Given the description of an element on the screen output the (x, y) to click on. 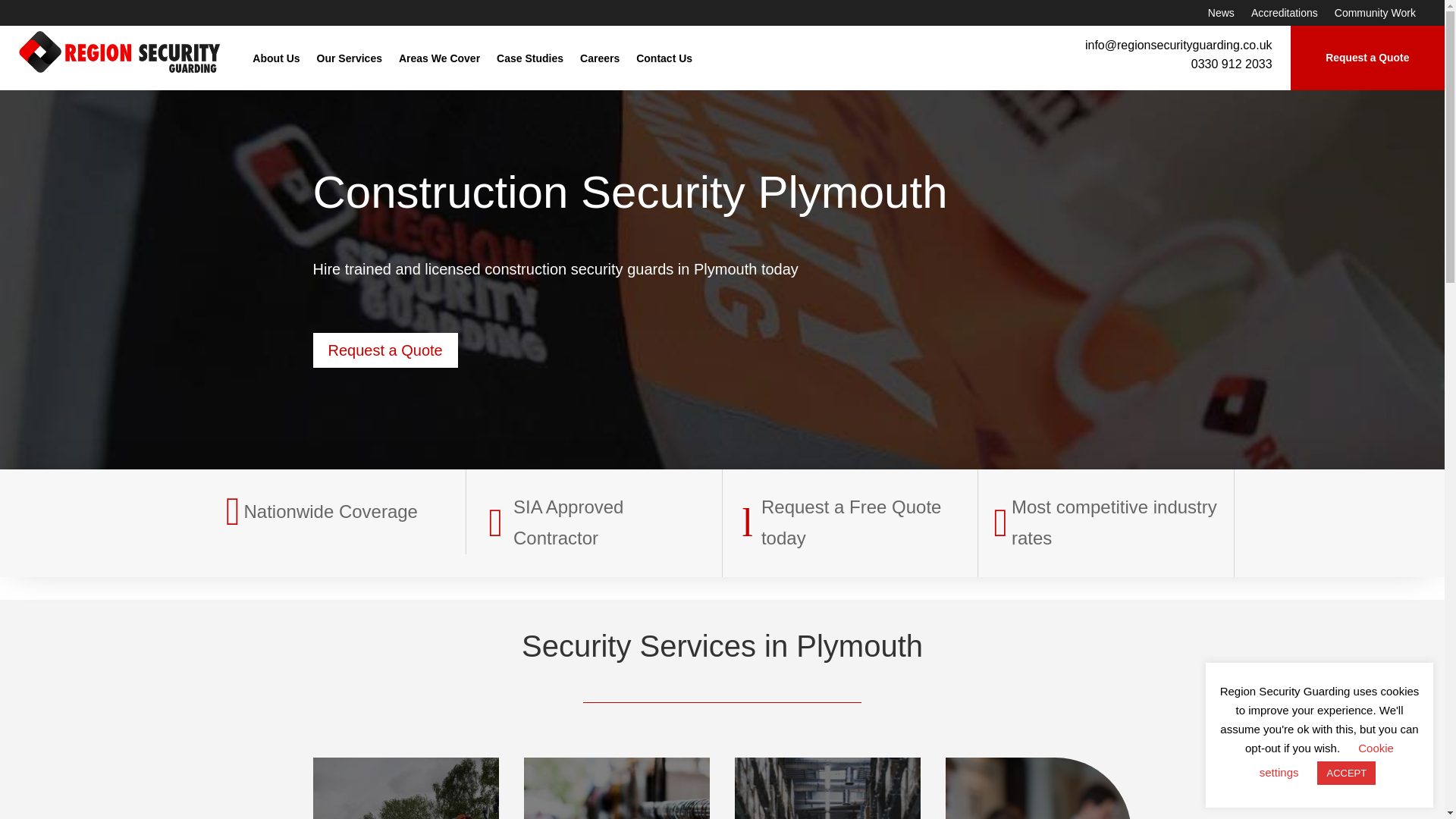
region security guarding logo (119, 52)
